Given the description of an element on the screen output the (x, y) to click on. 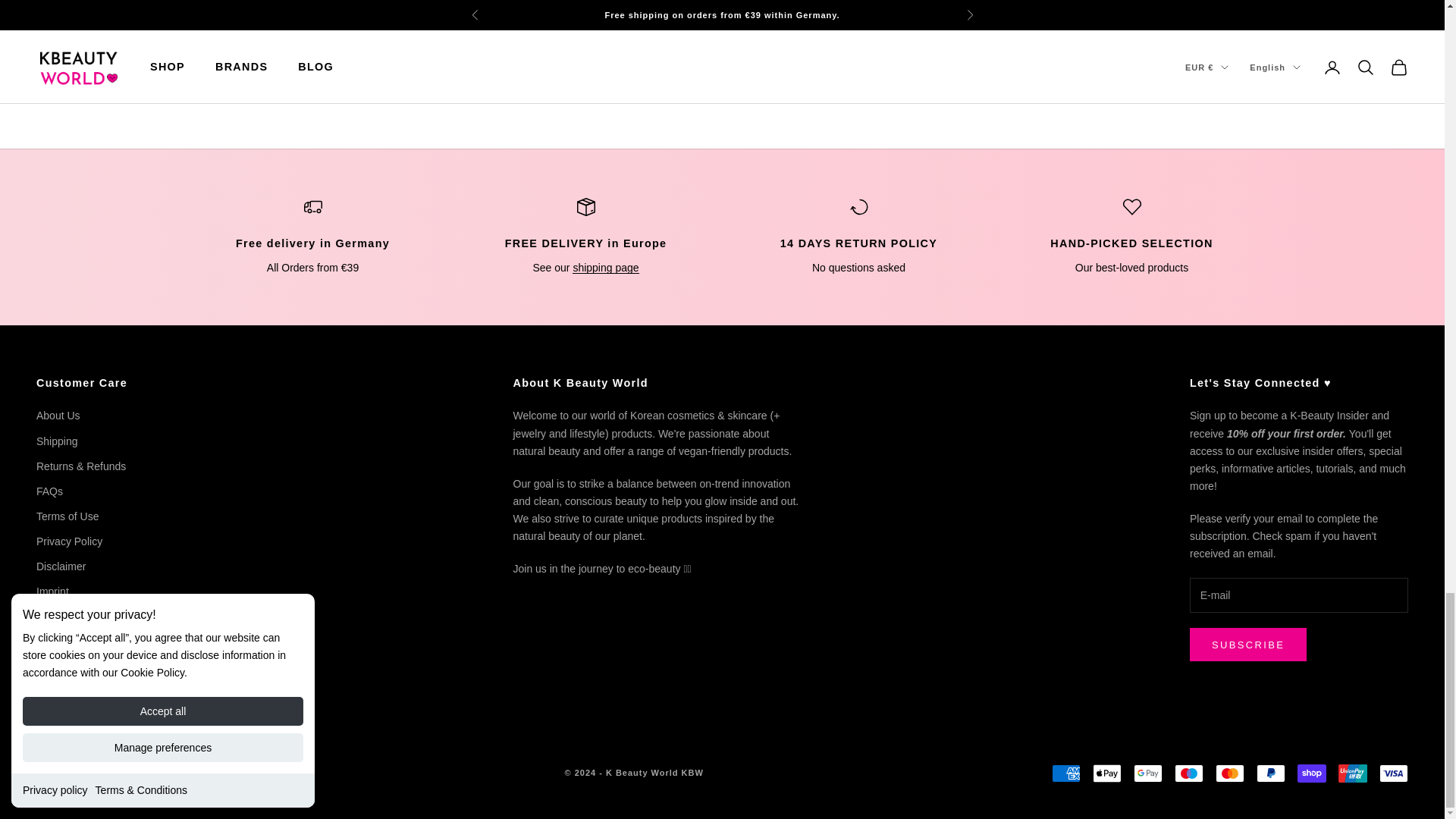
Shipping (605, 267)
